Given the description of an element on the screen output the (x, y) to click on. 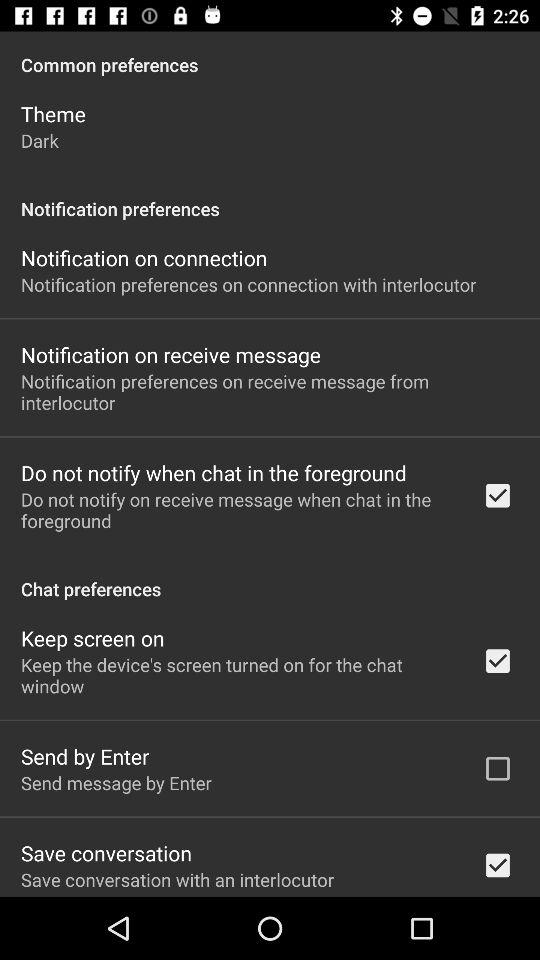
flip until the theme (53, 113)
